Given the description of an element on the screen output the (x, y) to click on. 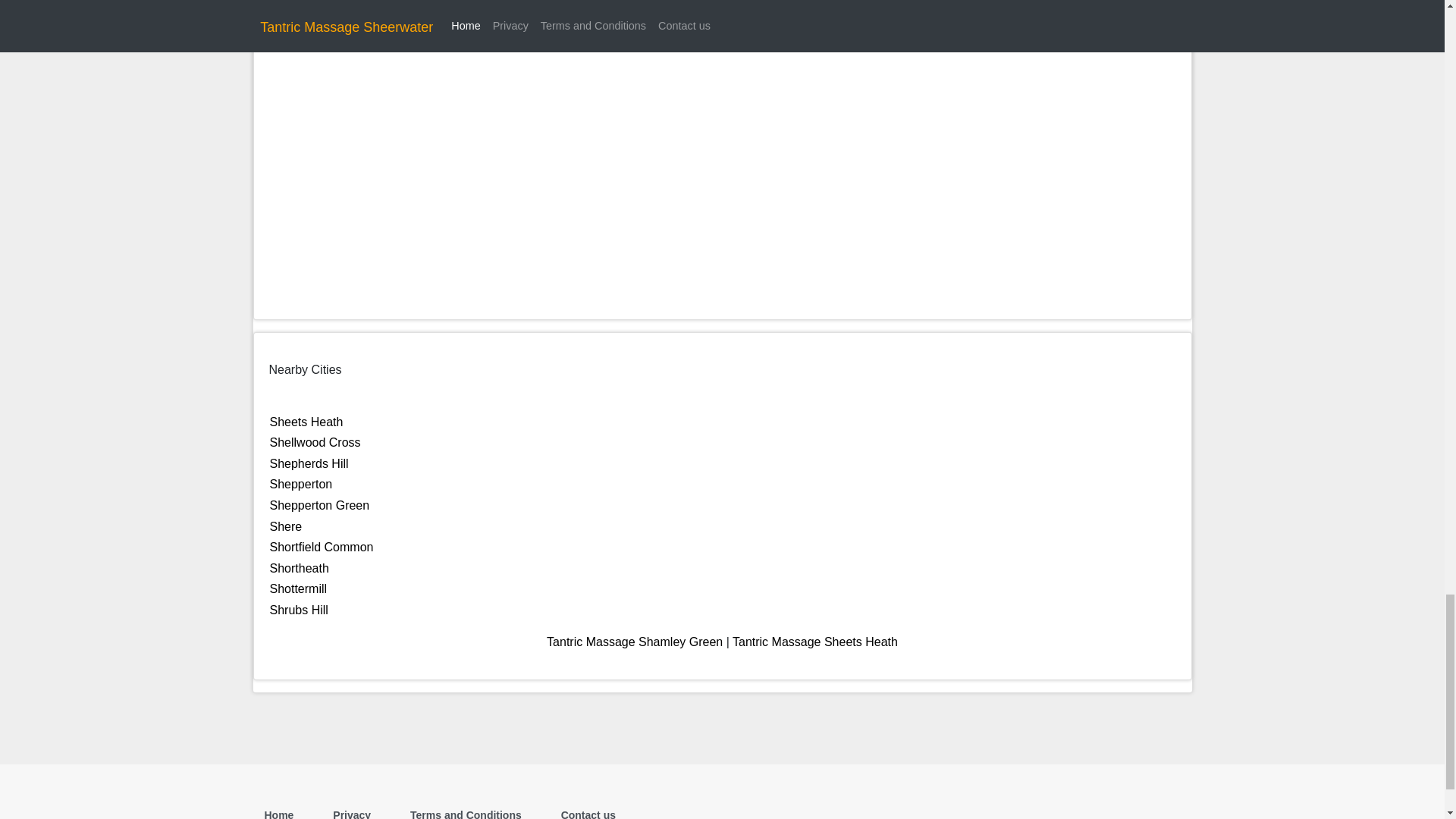
Shepherds Hill (309, 463)
Shrubs Hill (299, 609)
Shortfield Common (321, 546)
Tantric Massage Sheets Heath (815, 641)
Sheets Heath (306, 421)
Tantric Massage Shamley Green (634, 641)
Shortheath (299, 567)
Shepperton Green (319, 504)
Shottermill (298, 588)
Shepperton (301, 483)
Shere (285, 526)
Shellwood Cross (315, 441)
